Given the description of an element on the screen output the (x, y) to click on. 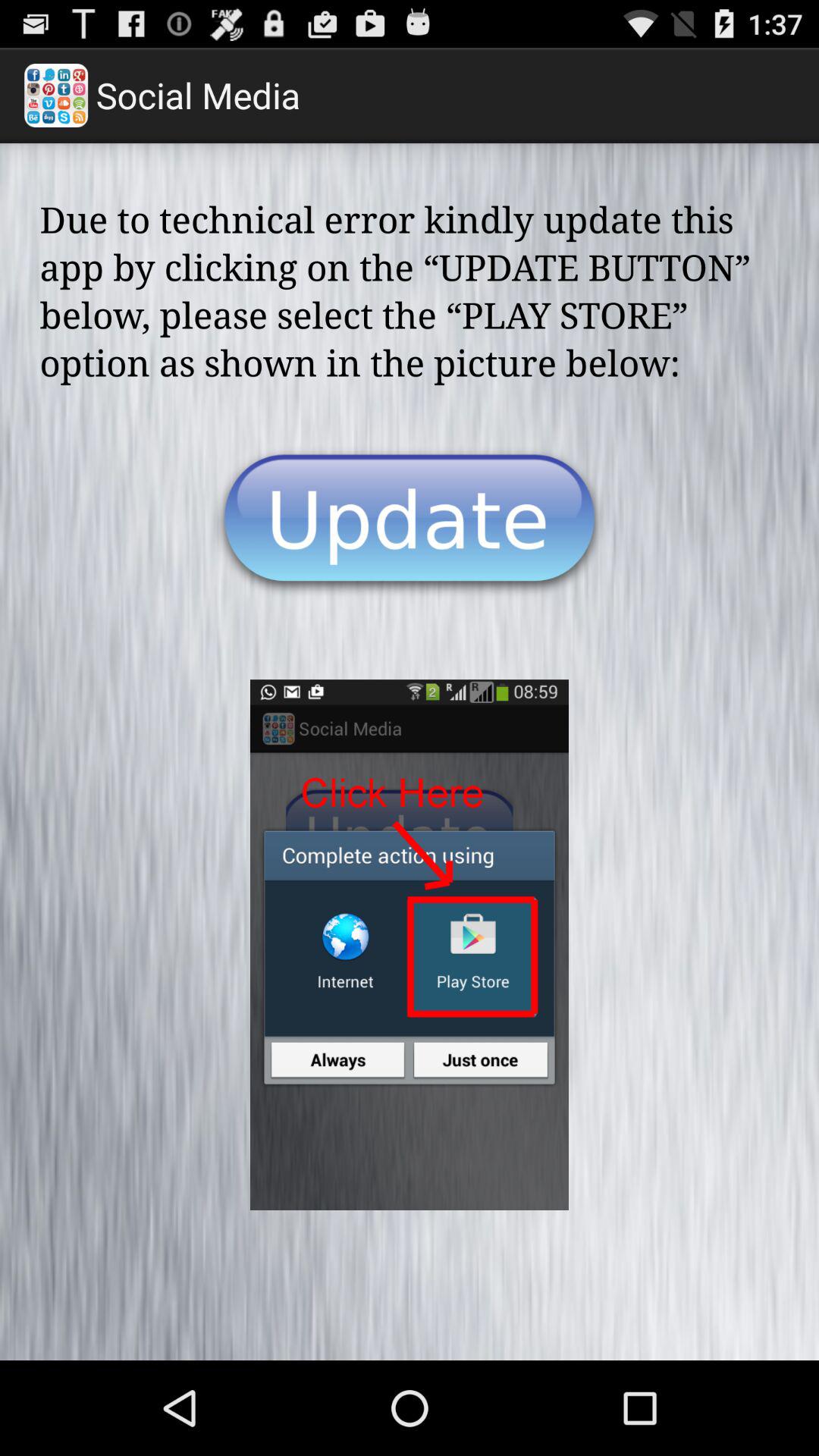
update application (409, 522)
